Given the description of an element on the screen output the (x, y) to click on. 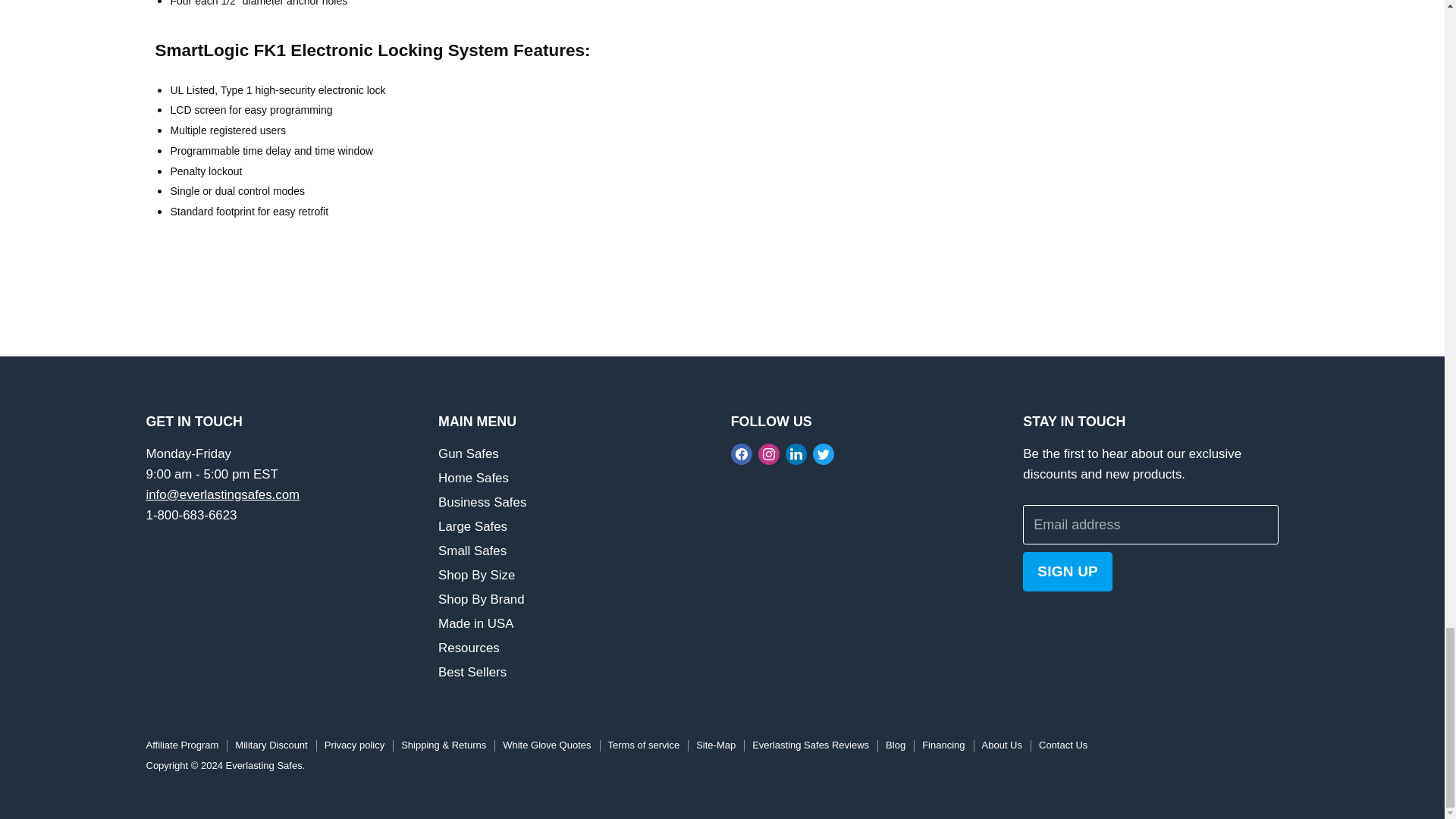
LinkedIn (796, 453)
Facebook (741, 453)
Instagram (769, 453)
Twitter (823, 453)
